Given the description of an element on the screen output the (x, y) to click on. 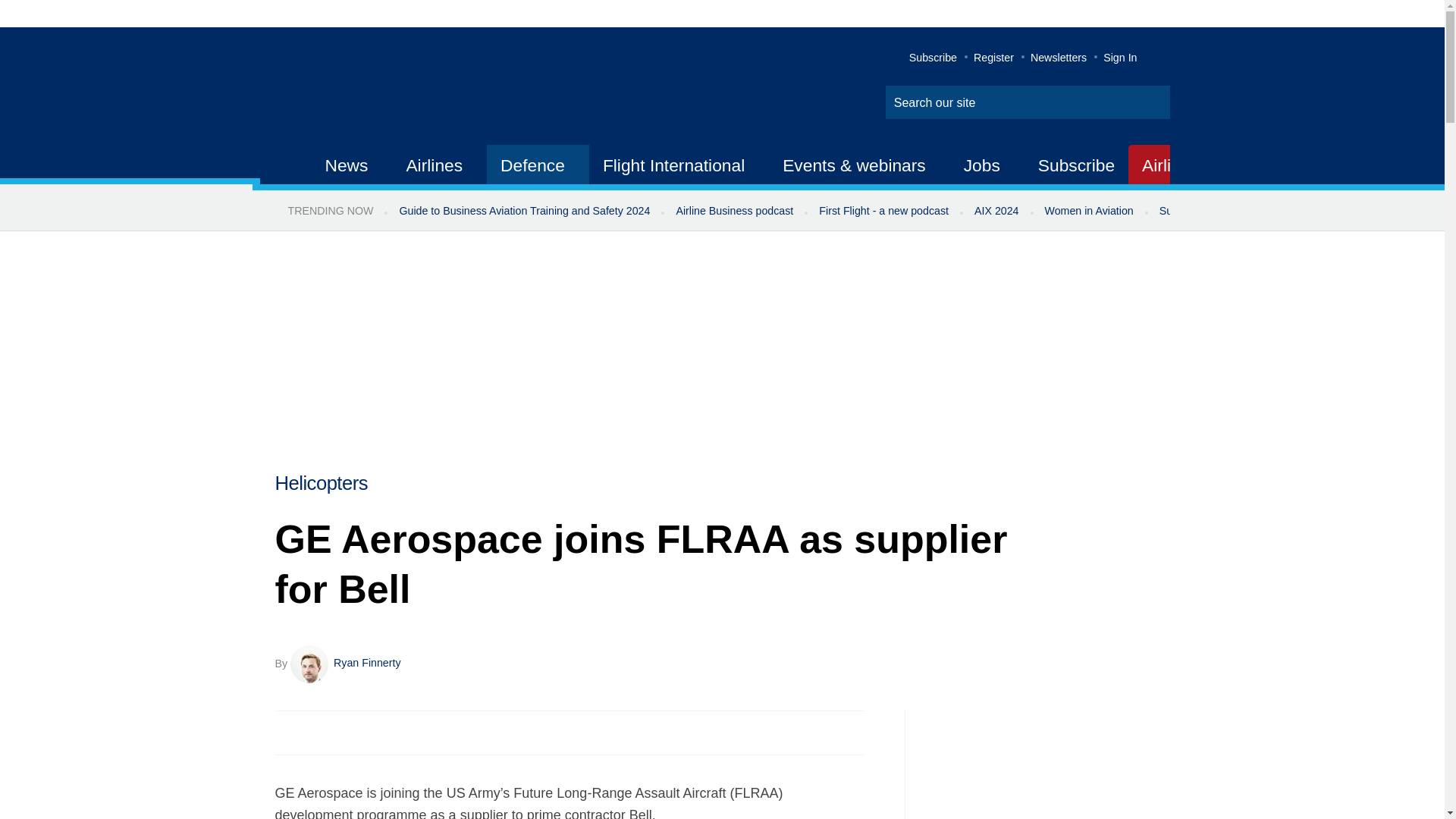
Share this on Twitter (320, 732)
First Flight - a new podcast (883, 210)
Women in Aviation (1089, 210)
Airline Business podcast (734, 210)
AIX 2024 (996, 210)
Share this on Linked in (352, 732)
Site name (422, 88)
